Given the description of an element on the screen output the (x, y) to click on. 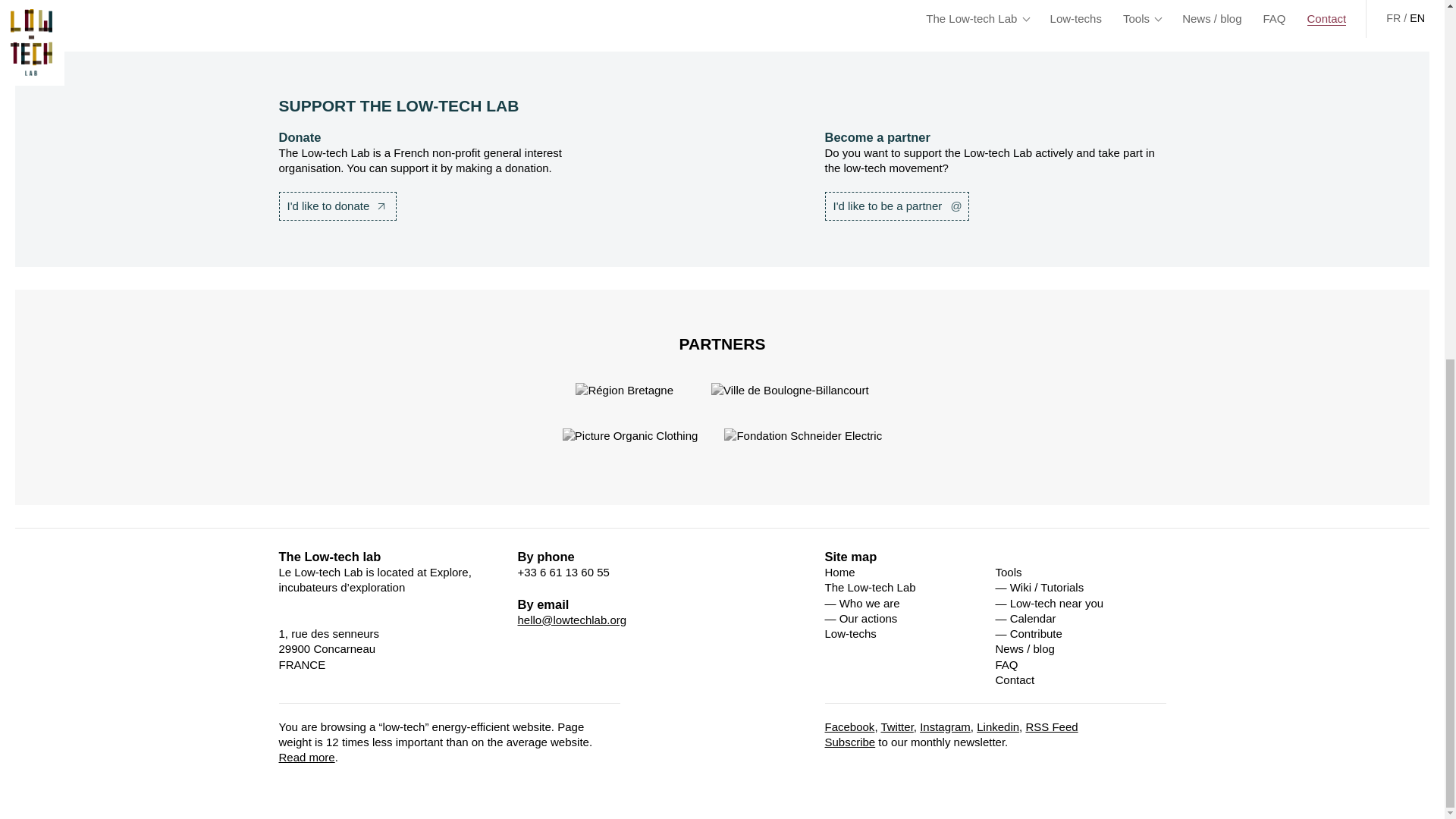
Home (840, 571)
Low-techs (850, 633)
I'd like to donate arrow-right (338, 205)
arrow-right (381, 205)
